Given the description of an element on the screen output the (x, y) to click on. 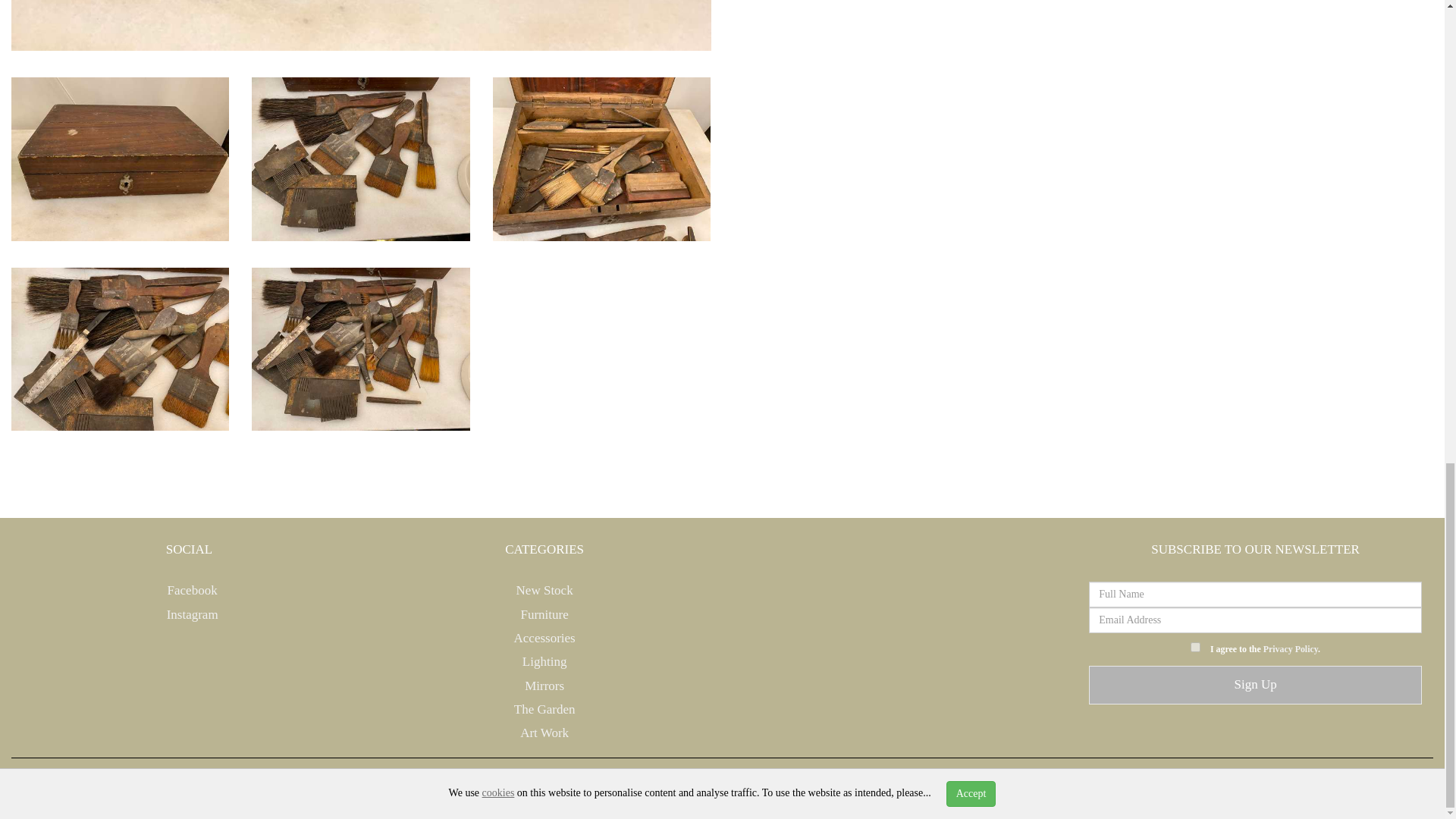
Antiques website design (283, 785)
Furniture (543, 614)
Art Work (544, 732)
Privacy Policy (1290, 648)
New Stock (544, 590)
Accessories (544, 637)
  Instagram (188, 614)
ph9 web design (406, 785)
Sign Up (1255, 684)
Lighting (544, 661)
Terms (1106, 785)
Mirrors (544, 685)
The Garden (544, 708)
  Facebook (188, 590)
Privacy (1063, 785)
